Given the description of an element on the screen output the (x, y) to click on. 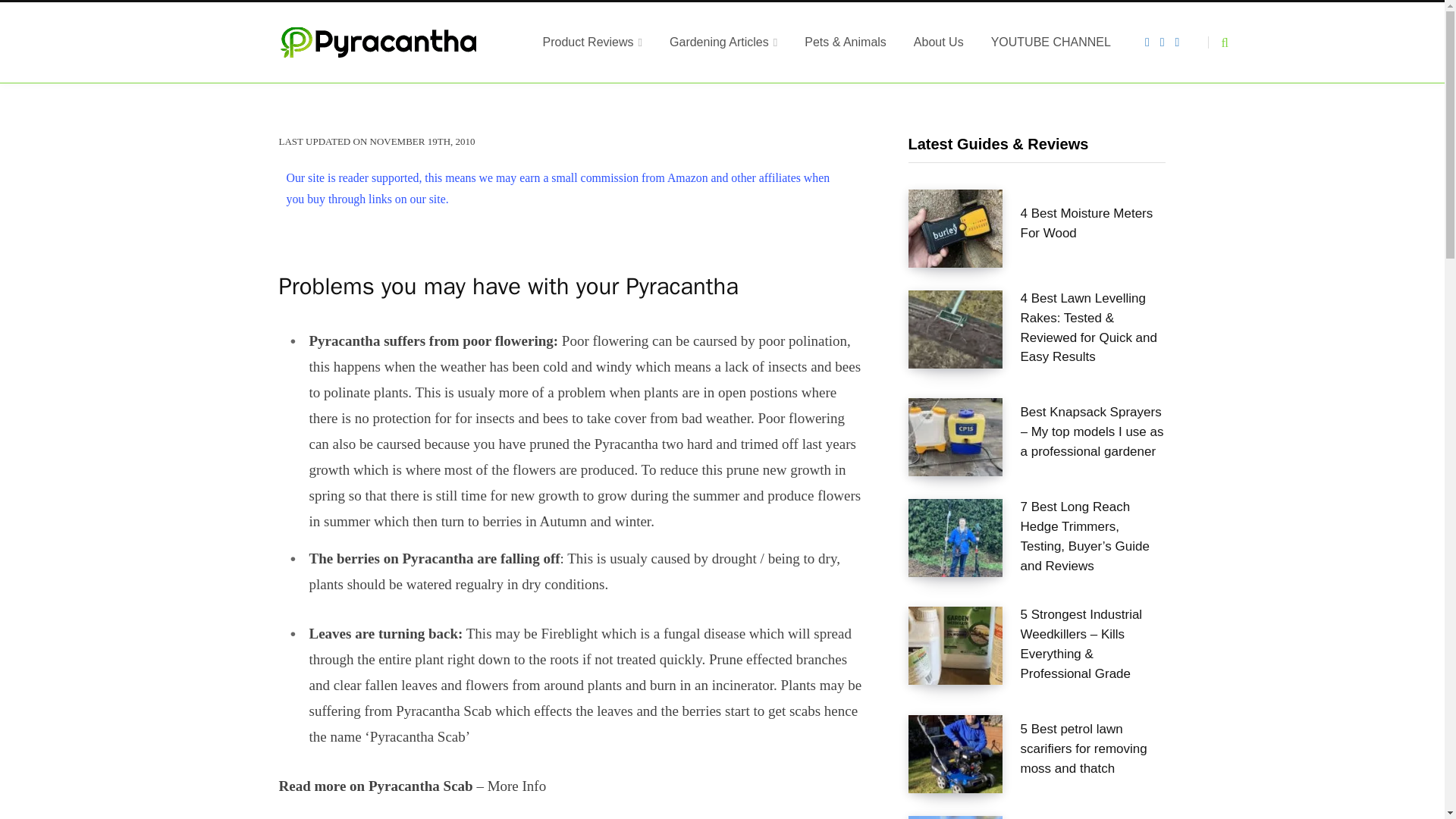
4 Best Moisture Meters For Wood (955, 228)
15 Best flowering shrubs for attracting bees (955, 817)
YOUTUBE CHANNEL (1050, 41)
5 Best petrol lawn scarifiers for removing moss and thatch (1093, 748)
4 Best Moisture Meters For Wood (1093, 223)
Search (1217, 42)
4 Best Moisture Meters For Wood (1093, 223)
About Us (937, 41)
5 Best petrol lawn scarifiers for removing moss and thatch (955, 753)
Pyracantha.co.uk (392, 42)
